Given the description of an element on the screen output the (x, y) to click on. 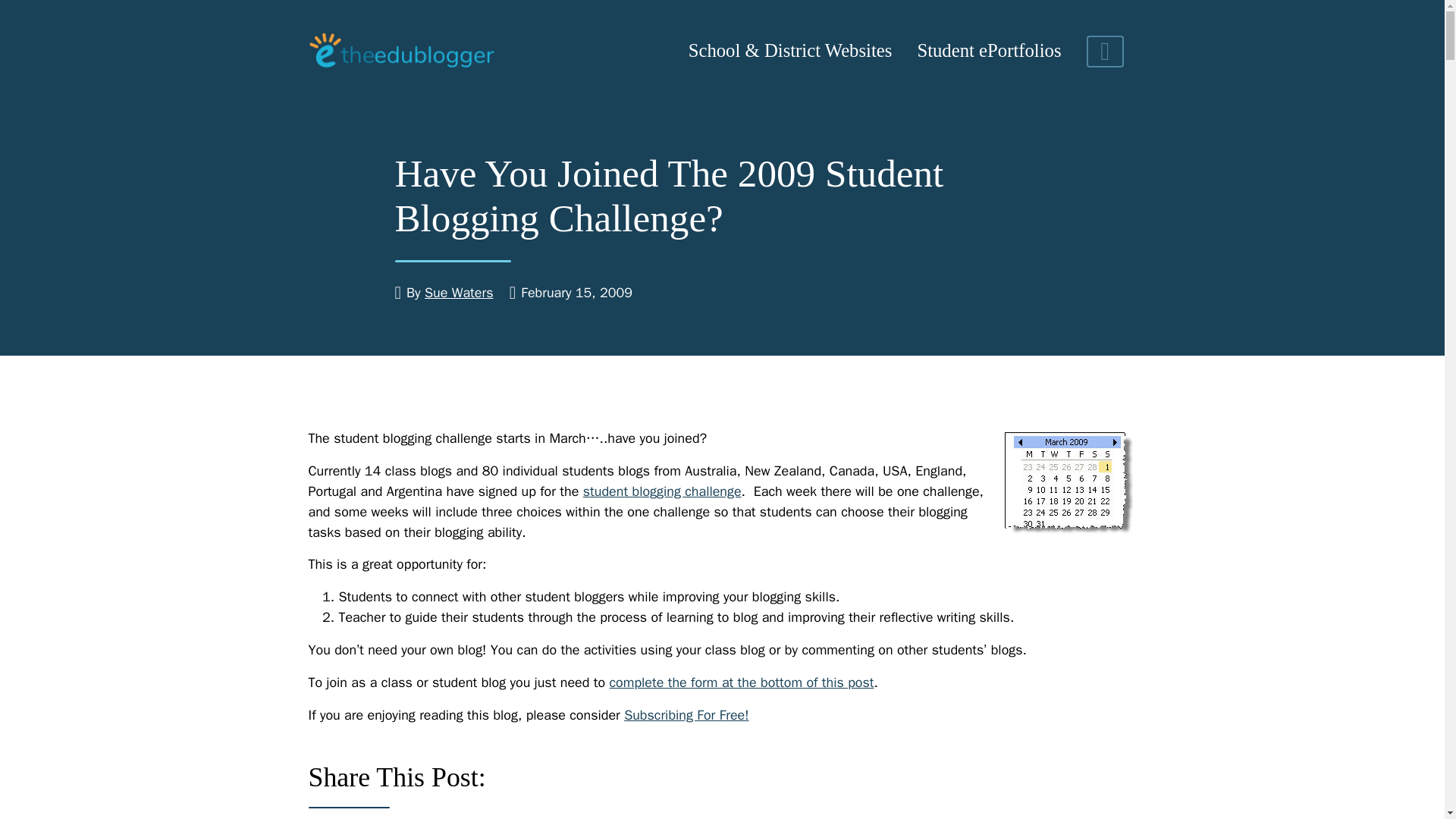
complete the form at the bottom of this post (740, 682)
Subscribe to my feed (686, 714)
The Edublogger (401, 50)
Student ePortfolios (989, 51)
TOGGLE SEARCH INTERFACE (1105, 51)
Subscribing For Free! (686, 714)
student blogging challenge (662, 491)
Sue Waters (459, 292)
Student ePortfolios (989, 51)
